Given the description of an element on the screen output the (x, y) to click on. 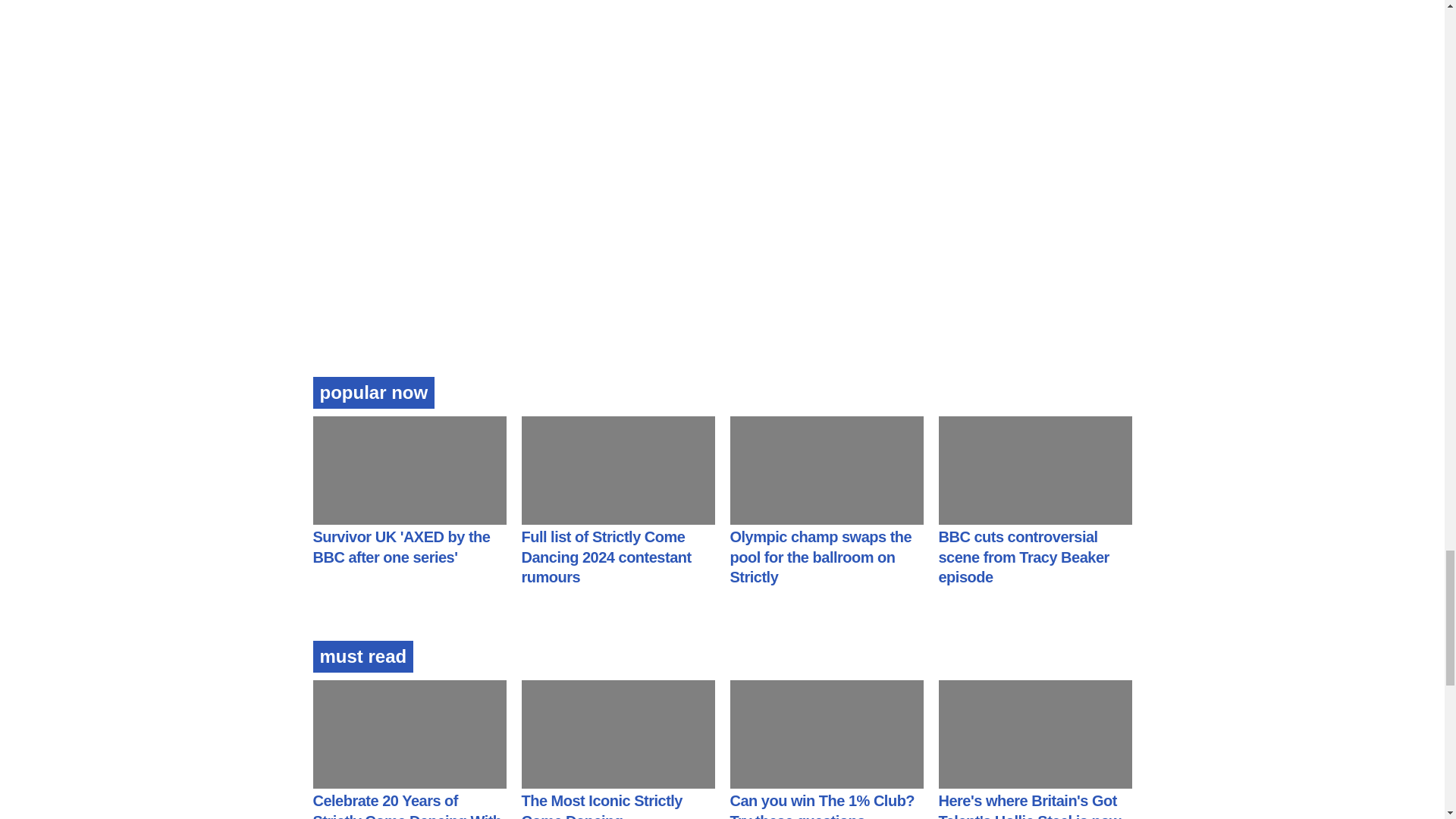
Full list of Strictly Come Dancing 2024 contestant rumours (606, 556)
Survivor UK 'AXED by the BBC after one series' (401, 546)
